Given the description of an element on the screen output the (x, y) to click on. 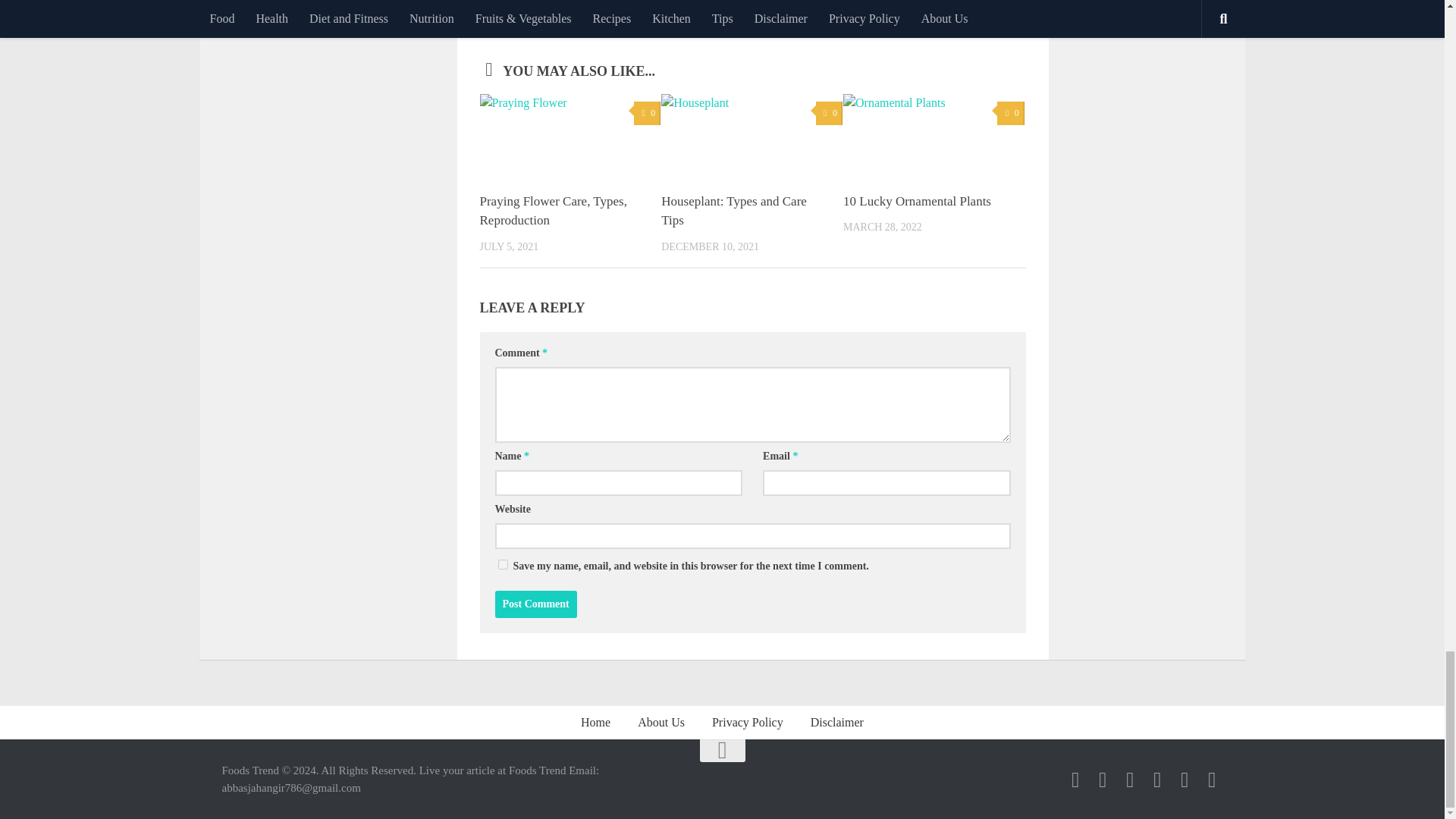
Houseplant: Types and Care Tips (733, 211)
0 (647, 113)
yes (501, 564)
Post Comment (535, 604)
Praying Flower Care, Types, Reproduction (552, 211)
0 (829, 113)
